Given the description of an element on the screen output the (x, y) to click on. 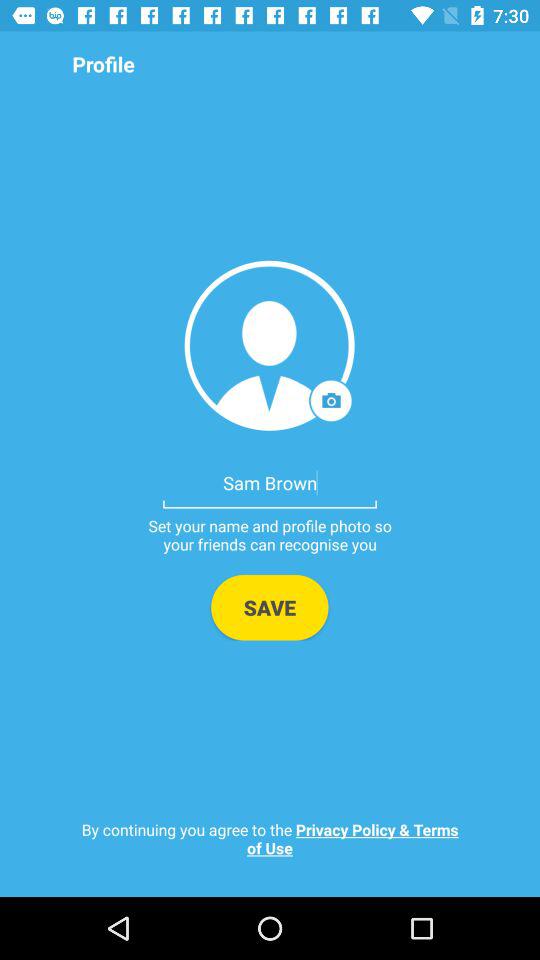
select the item above by continuing you item (269, 607)
